Given the description of an element on the screen output the (x, y) to click on. 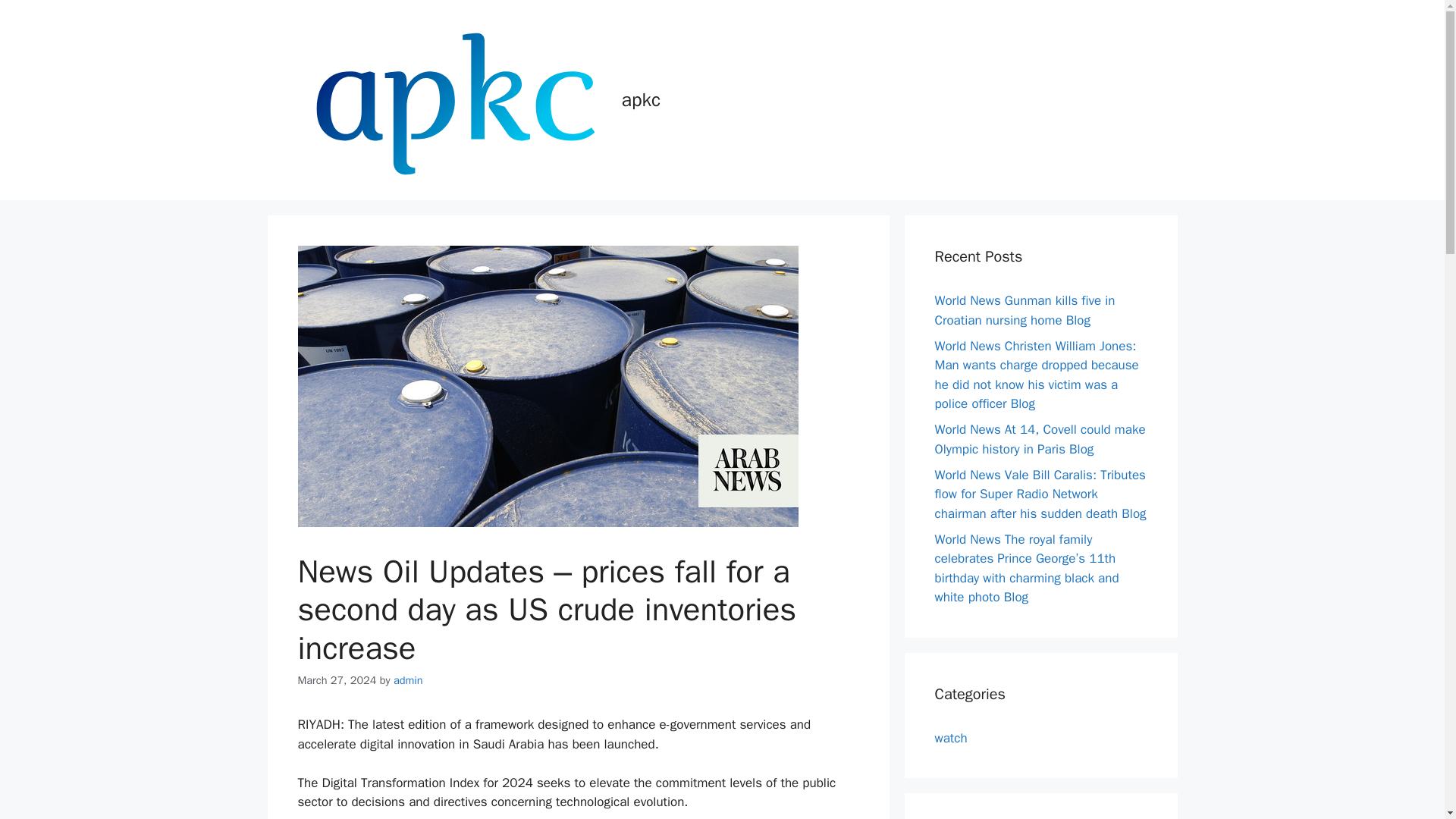
watch (950, 737)
World News Gunman kills five in Croatian nursing home Blog (1024, 310)
View all posts by admin (408, 680)
admin (408, 680)
apkc (641, 99)
